Given the description of an element on the screen output the (x, y) to click on. 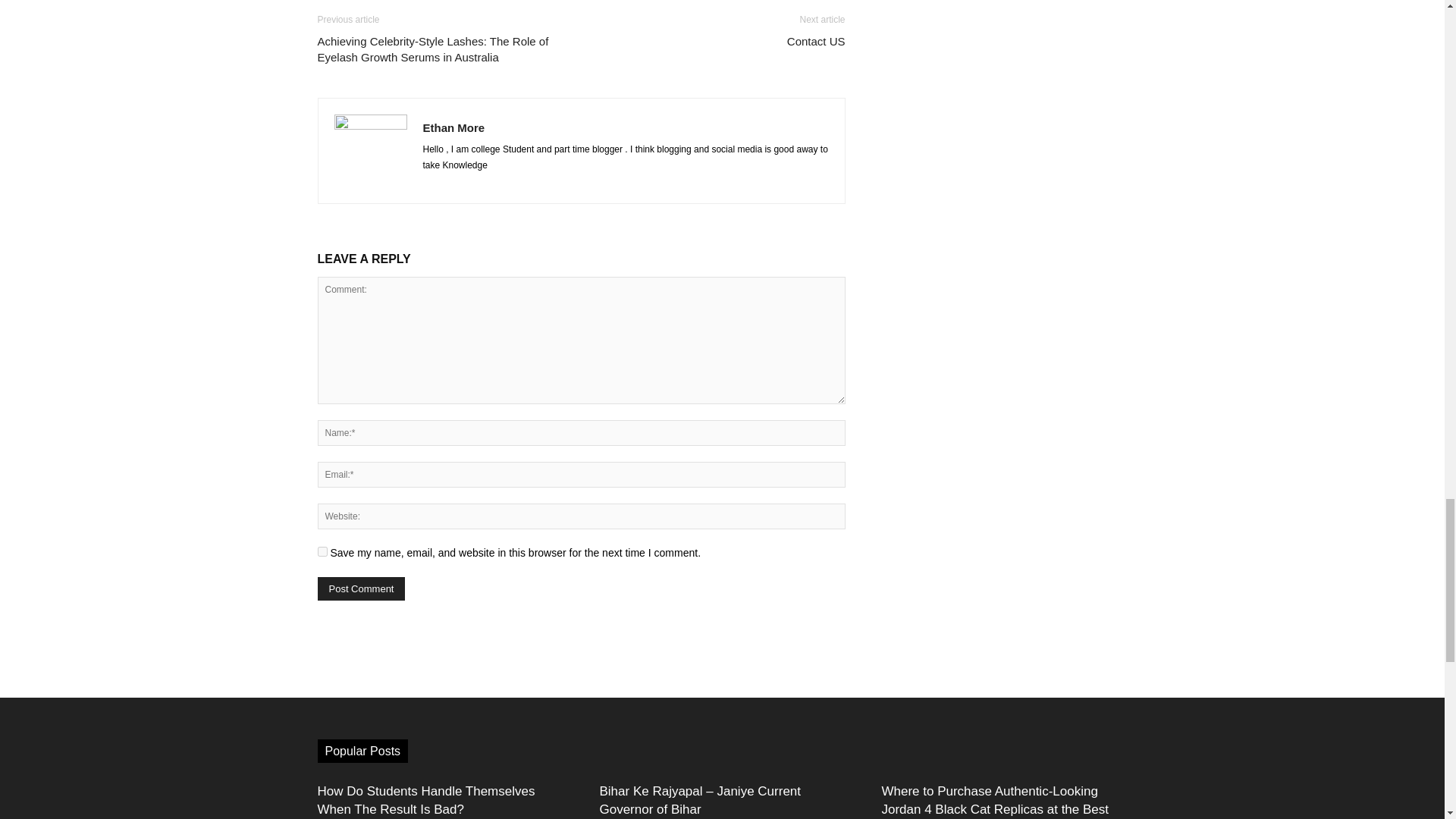
Post Comment (360, 588)
yes (321, 551)
